Given the description of an element on the screen output the (x, y) to click on. 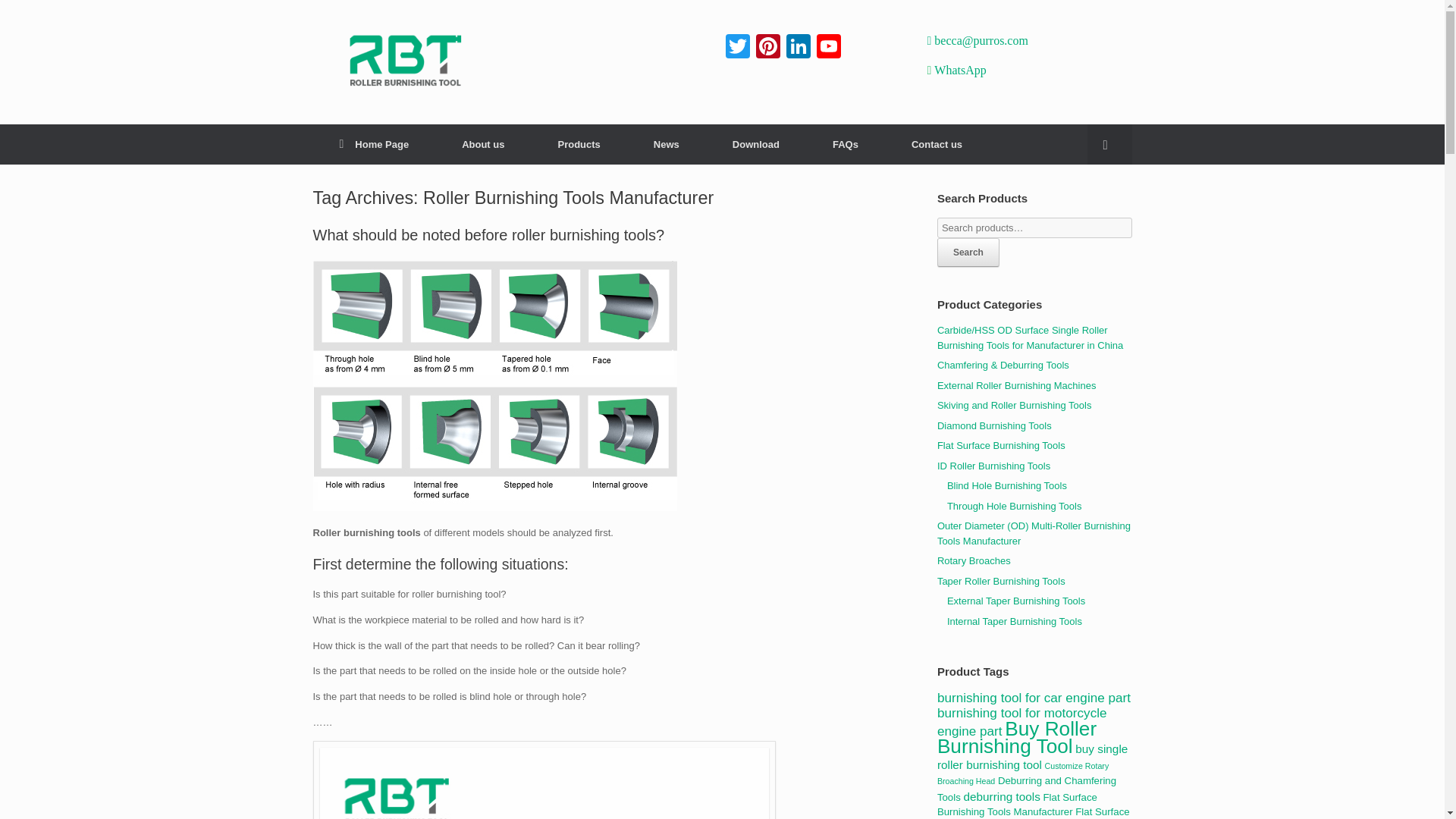
What should be noted before roller burnishing tools? (488, 234)
FAQs (845, 144)
Products (578, 144)
Twitter (737, 48)
About us (483, 144)
LinkedIn (797, 48)
YouTube Channel (827, 48)
WhatsApp (959, 69)
Contact us (936, 144)
Download (756, 144)
Pinterest (767, 48)
Home Page (374, 144)
LinkedIn (797, 48)
YouTube Channel (827, 48)
